Given the description of an element on the screen output the (x, y) to click on. 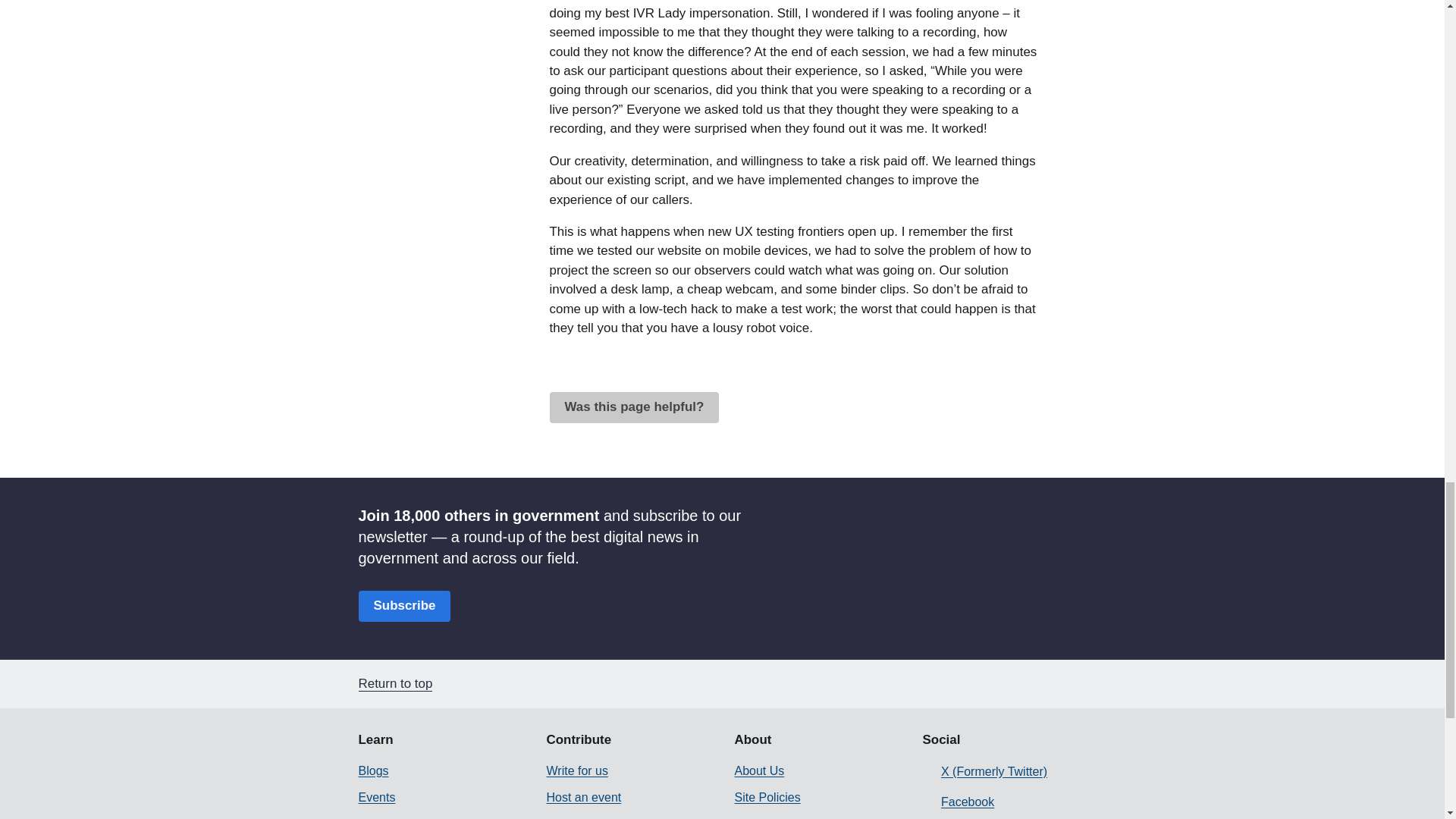
Was this page helpful? (633, 407)
Subscribe (403, 605)
Return to top (404, 683)
